Given the description of an element on the screen output the (x, y) to click on. 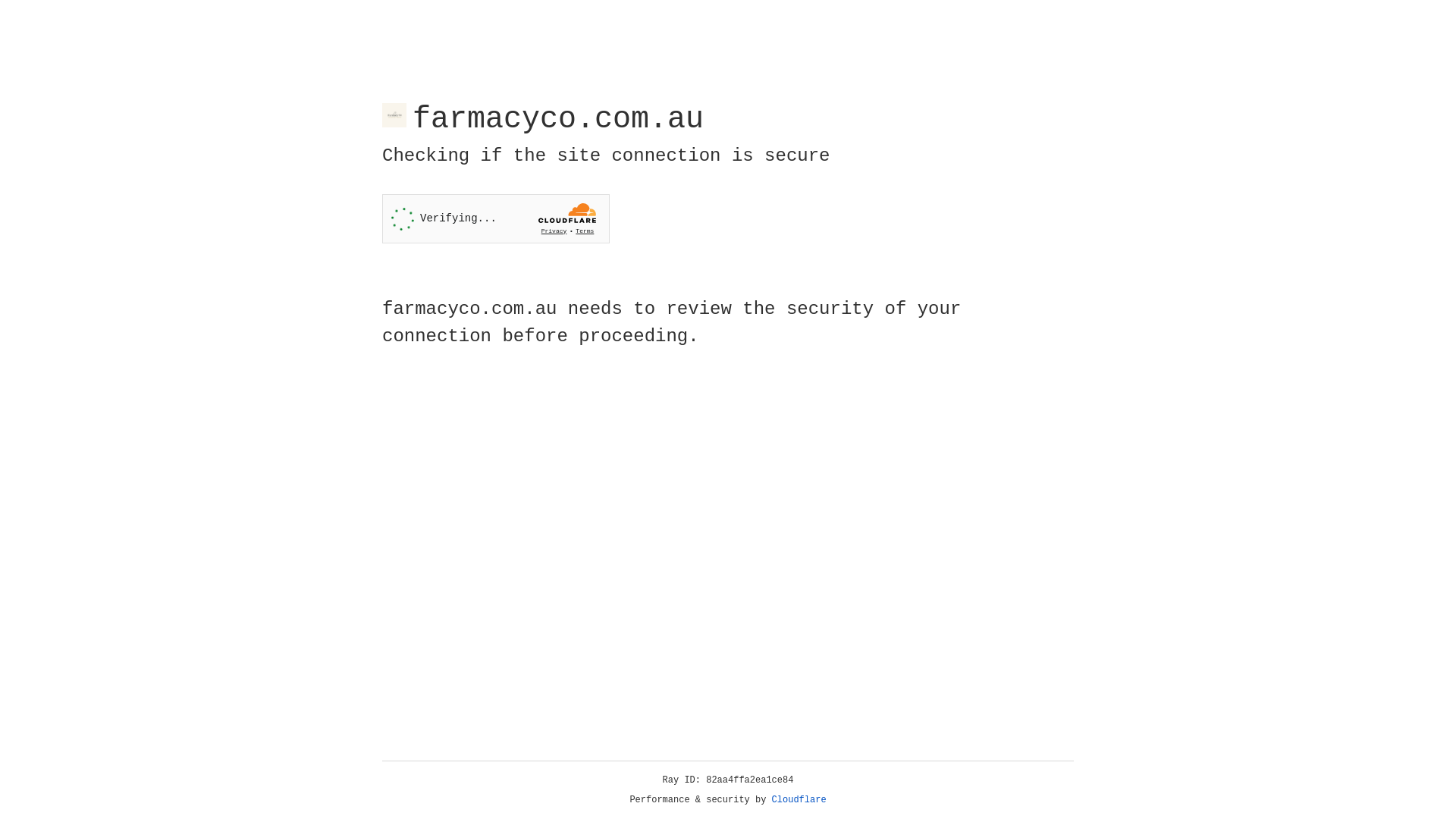
Widget containing a Cloudflare security challenge Element type: hover (495, 218)
Cloudflare Element type: text (798, 799)
